Given the description of an element on the screen output the (x, y) to click on. 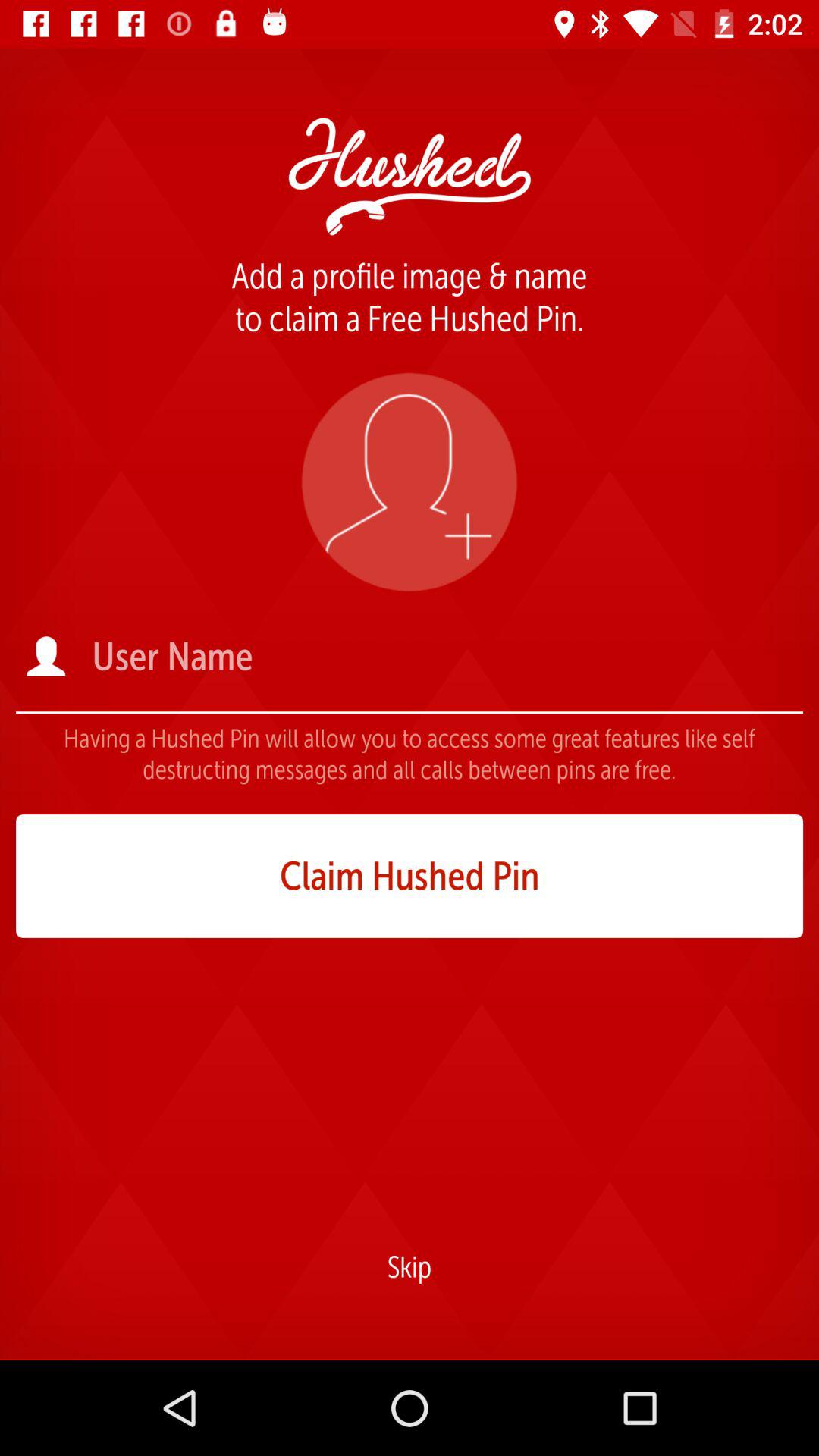
enter the contact name (446, 656)
